Given the description of an element on the screen output the (x, y) to click on. 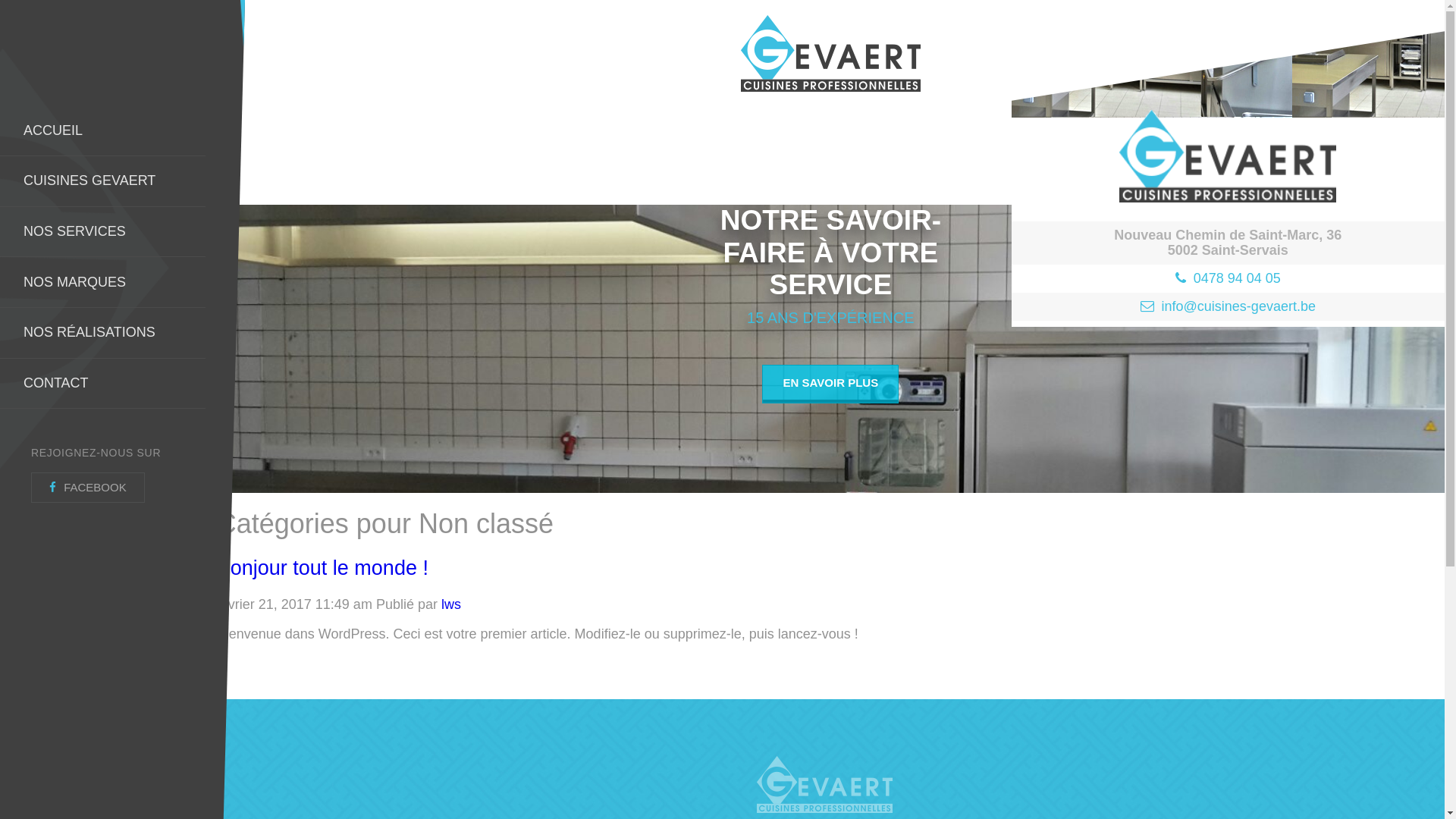
FACEBOOK Element type: text (87, 488)
EN SAVOIR PLUS Element type: text (830, 383)
Bonjour tout le monde ! Element type: text (322, 567)
info@cuisines-gevaert.be Element type: text (1238, 305)
lws Element type: text (451, 603)
0478 94 04 05 Element type: text (1236, 277)
